Given the description of an element on the screen output the (x, y) to click on. 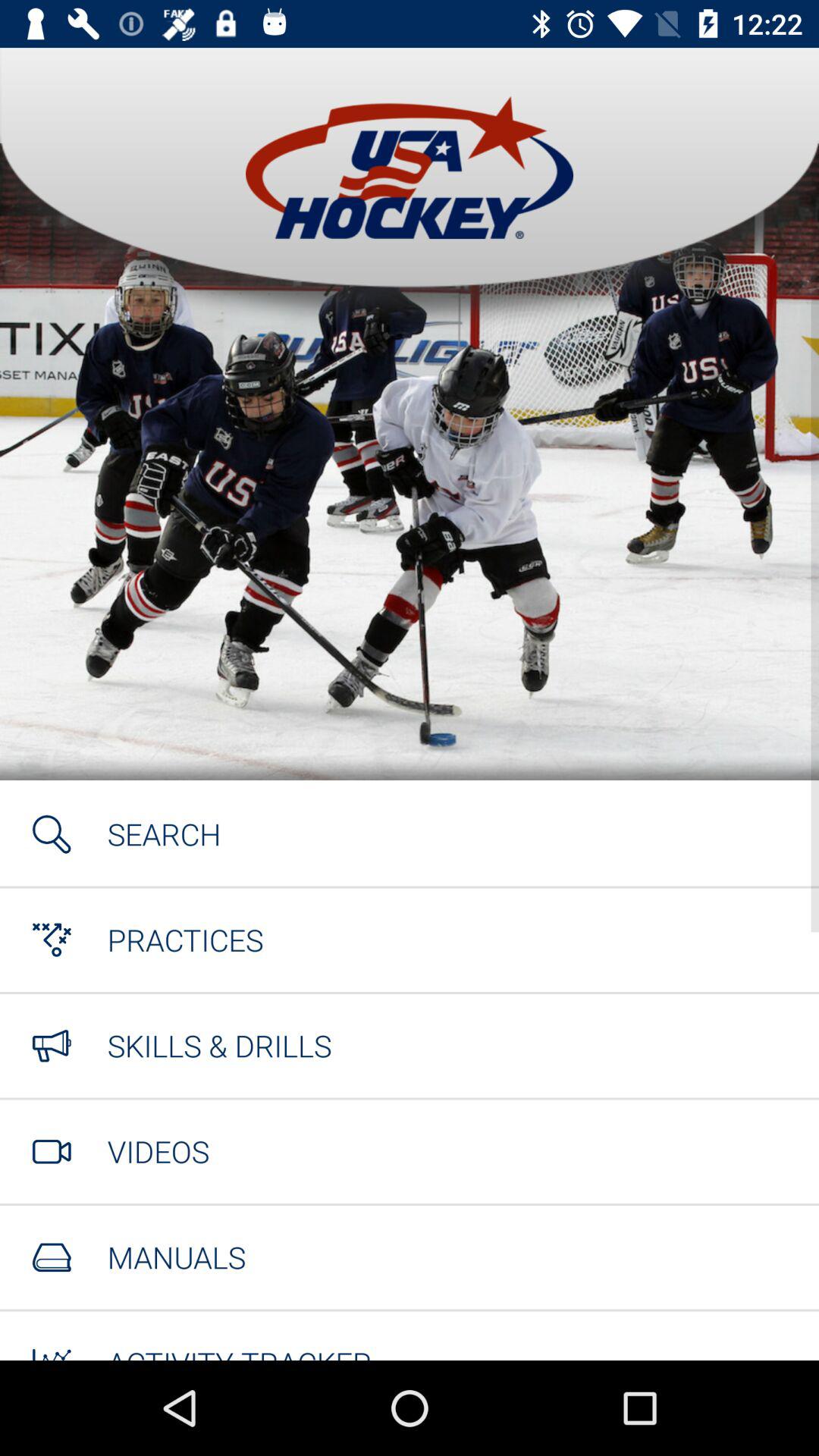
turn on the practices (185, 939)
